Given the description of an element on the screen output the (x, y) to click on. 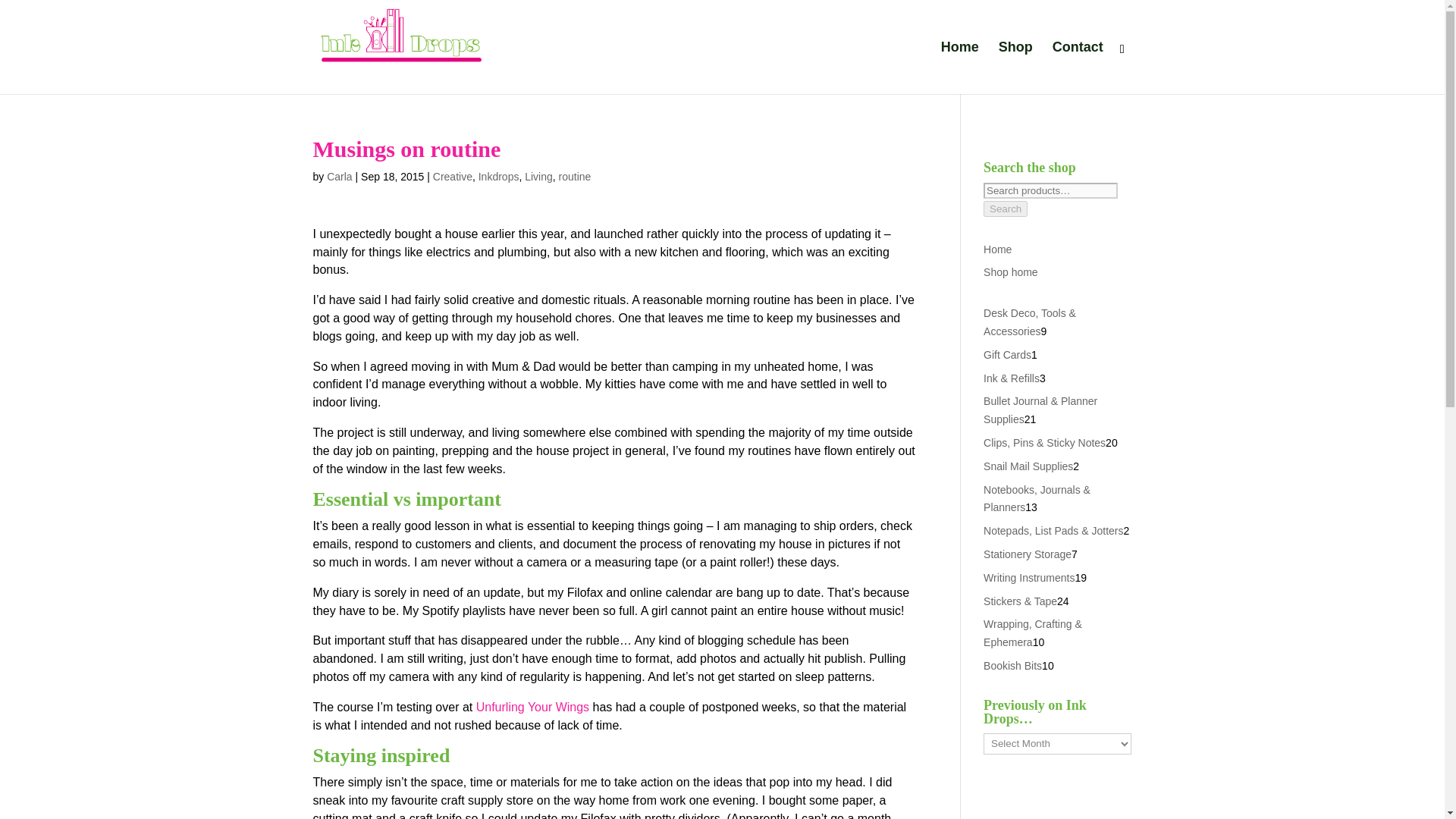
Gift Cards (1007, 354)
Inkdrops (499, 176)
Living (538, 176)
Shop home (1011, 272)
Contact (1077, 67)
Posts by Carla (339, 176)
Writing Instruments (1029, 577)
Snail Mail Supplies (1028, 466)
Creative (451, 176)
Search (1005, 208)
Stationery Storage (1027, 553)
Home (997, 249)
Unfurling Your Wings (532, 707)
Carla (339, 176)
Bookish Bits (1013, 665)
